Given the description of an element on the screen output the (x, y) to click on. 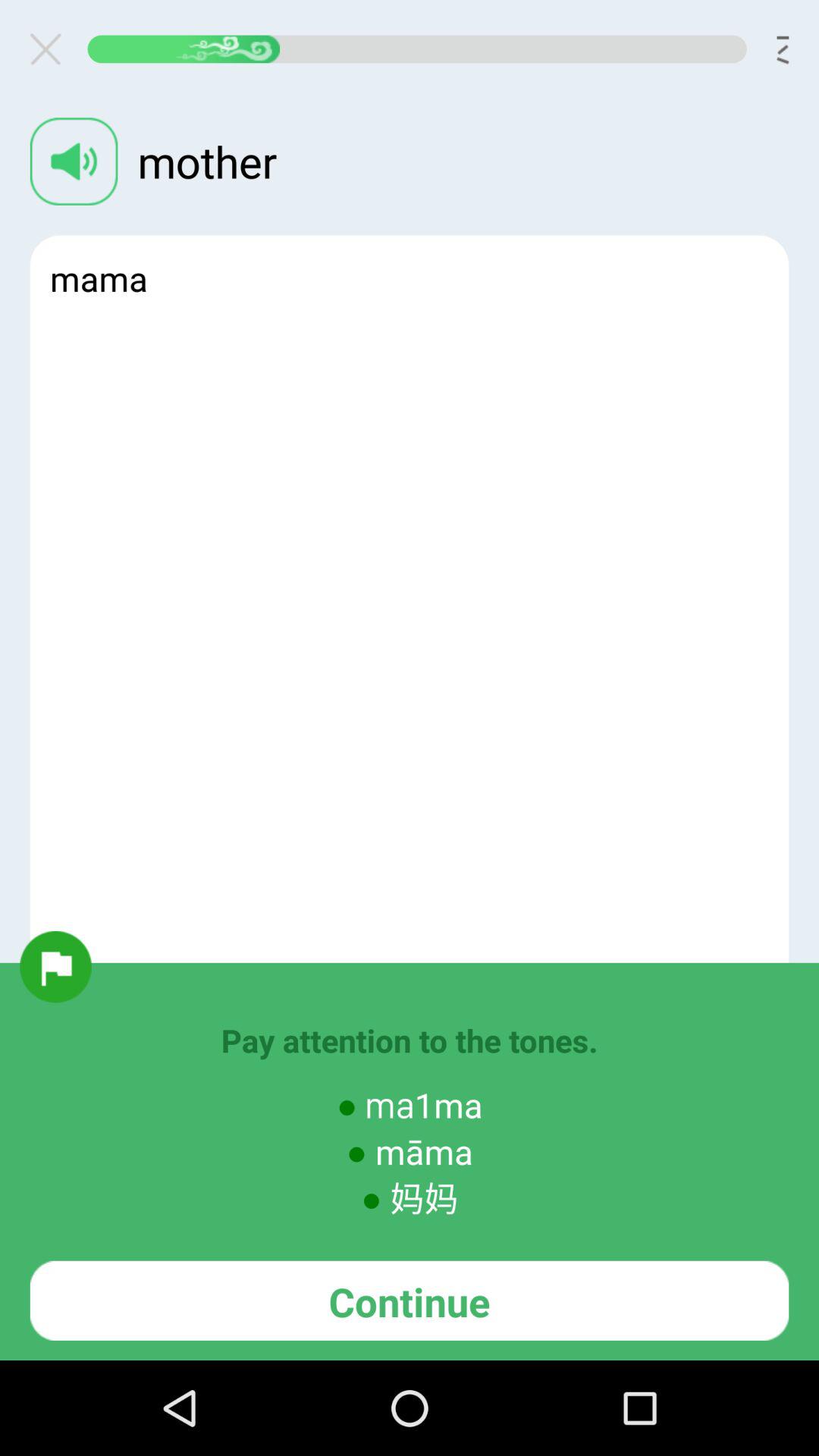
flag (55, 966)
